Given the description of an element on the screen output the (x, y) to click on. 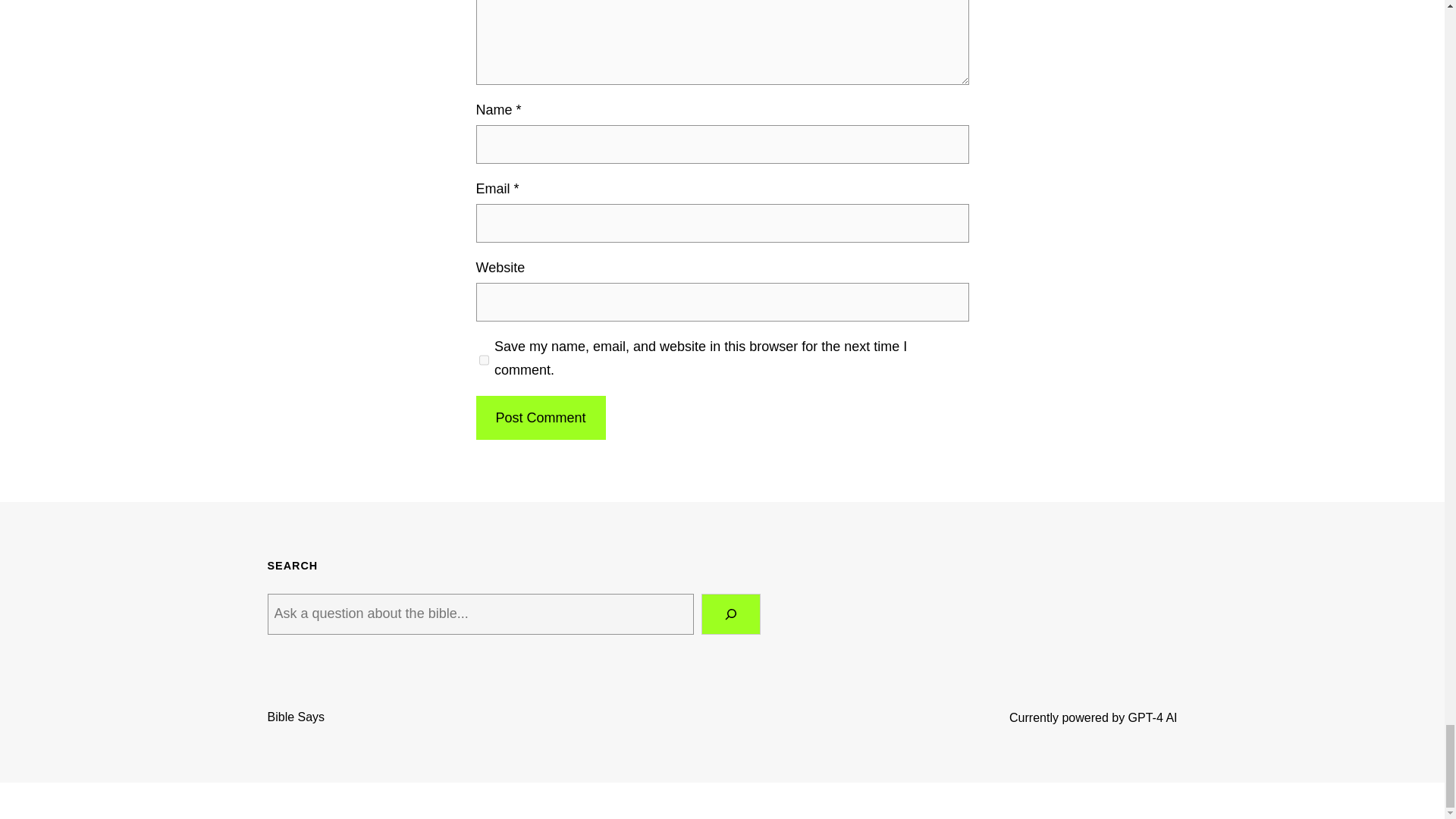
Post Comment (540, 417)
Post Comment (540, 417)
Bible Says (295, 716)
